Given the description of an element on the screen output the (x, y) to click on. 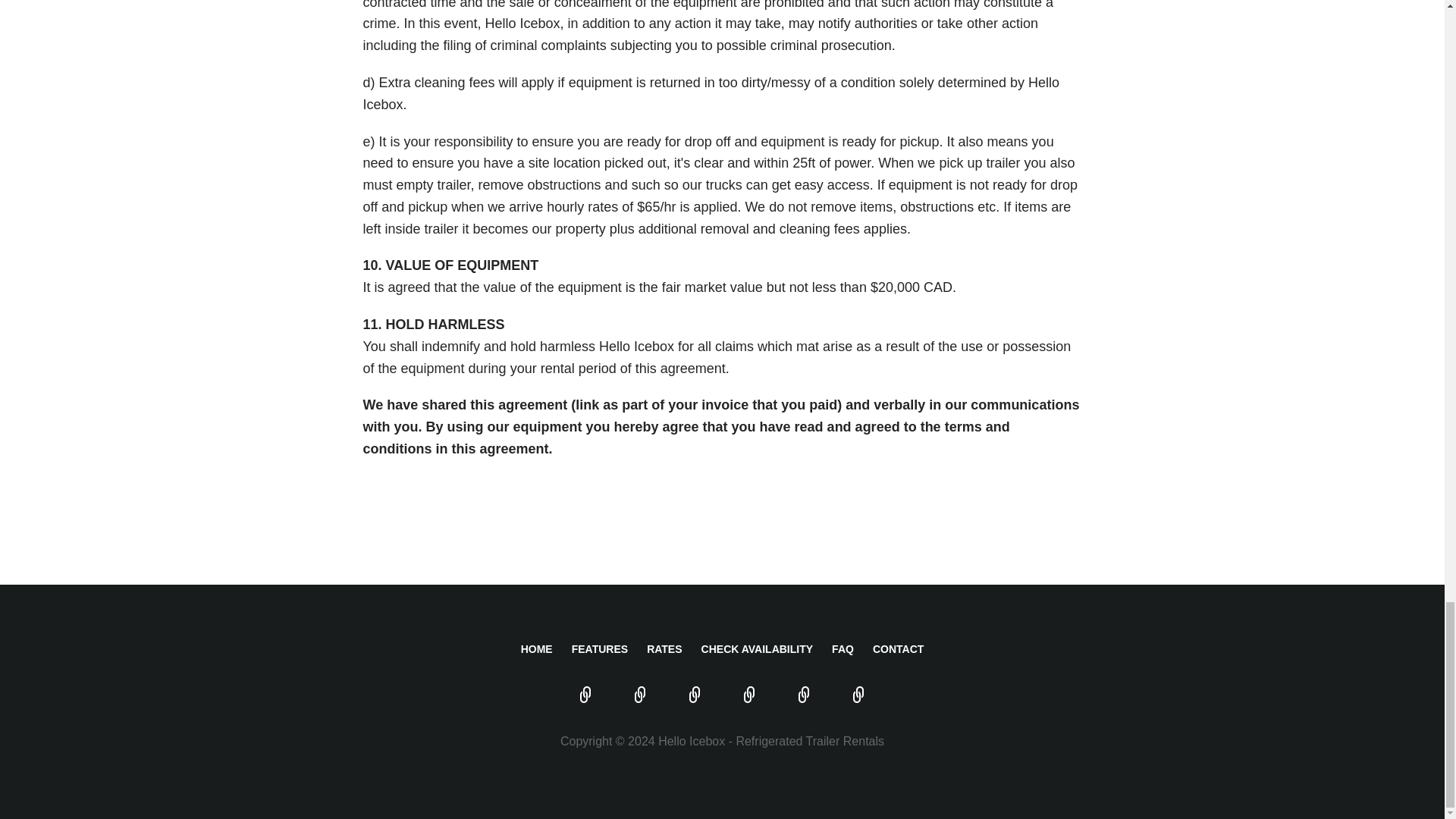
HOME (537, 648)
Home (584, 695)
FEATURES (599, 648)
Contact (857, 695)
RATES (663, 648)
Check Availability (748, 695)
CHECK AVAILABILITY (757, 648)
FAQ (842, 648)
Features (639, 695)
Rates (694, 695)
FAQ (803, 695)
CONTACT (897, 648)
